Given the description of an element on the screen output the (x, y) to click on. 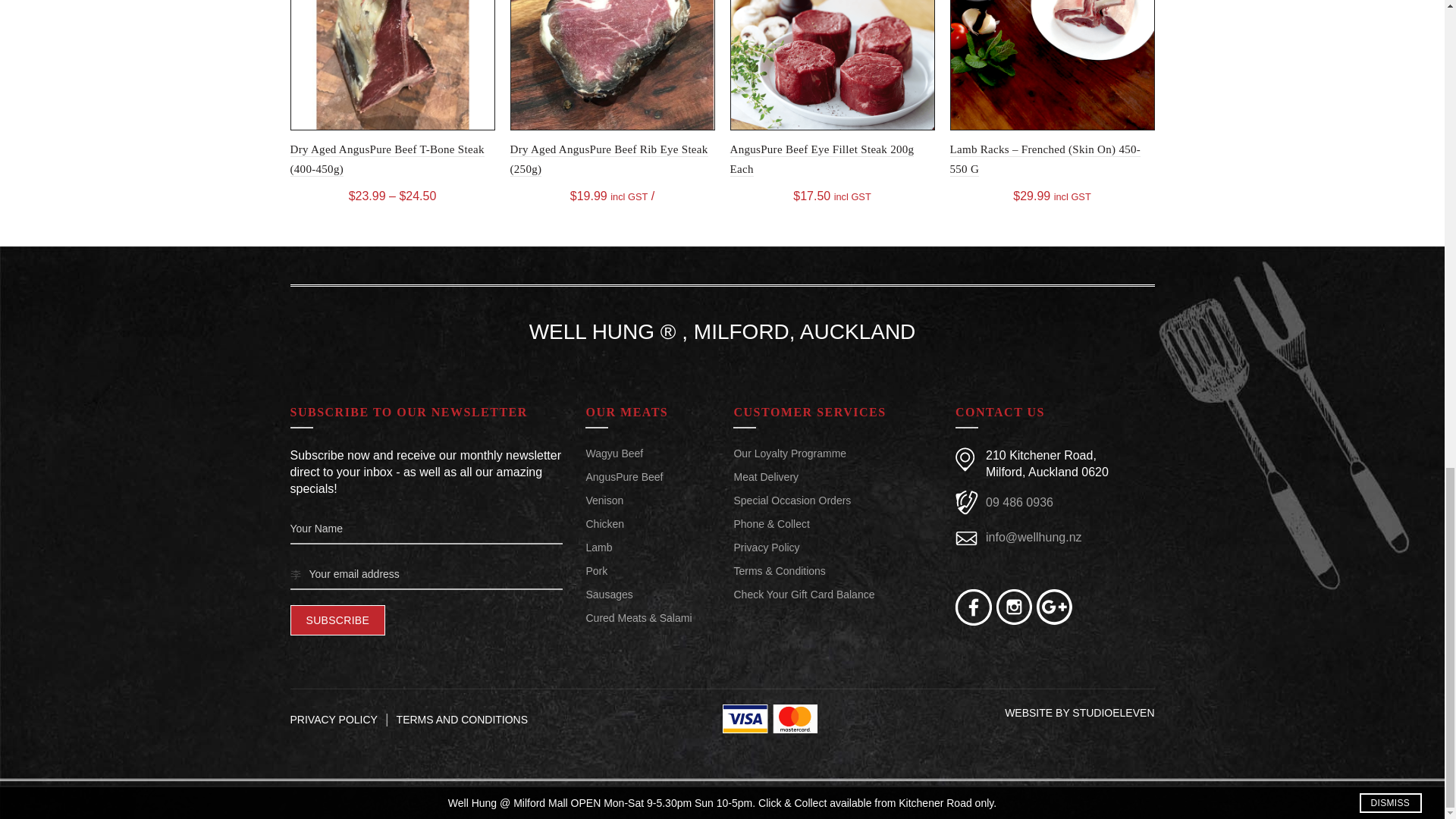
SUBSCRIBE (337, 620)
